Given the description of an element on the screen output the (x, y) to click on. 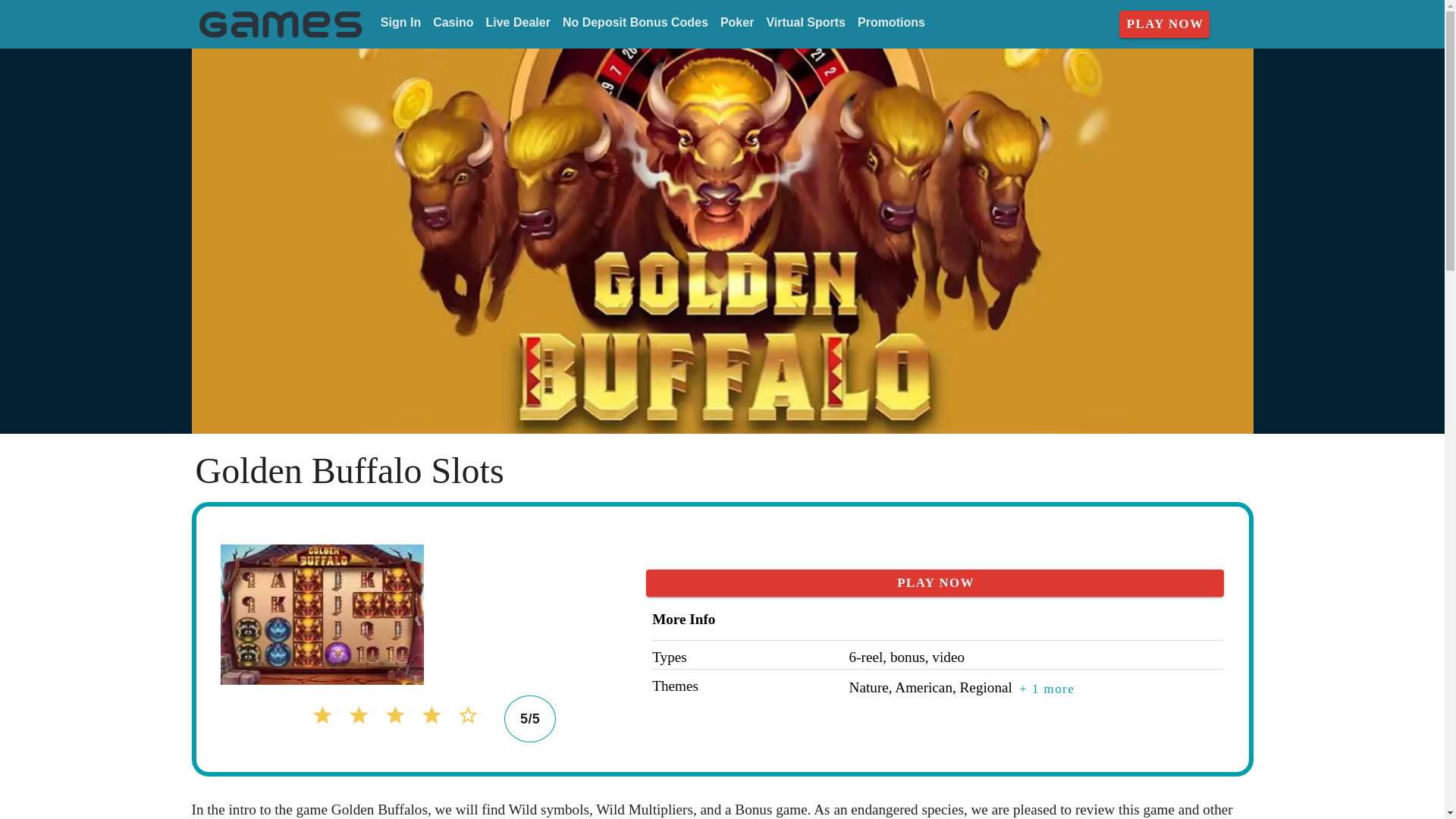
PLAY NOW (1164, 23)
Promotions (891, 22)
Live Dealer (517, 22)
Virtual Sports (805, 22)
Casino (452, 22)
Poker (737, 22)
No Deposit Bonus Codes (635, 22)
PLAY NOW (935, 583)
Sign In (400, 22)
